Given the description of an element on the screen output the (x, y) to click on. 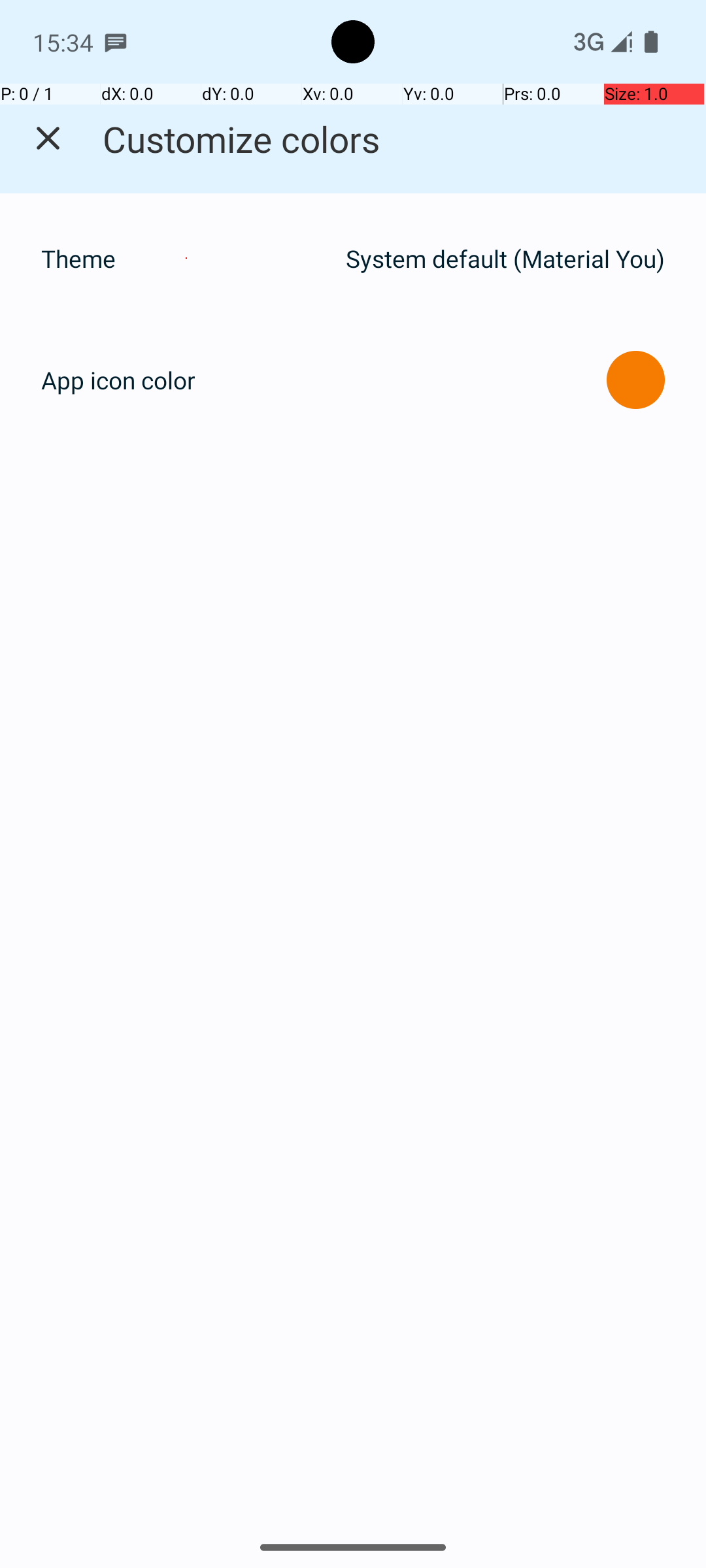
System default (Material You) Element type: android.widget.TextView (504, 258)
App icon color Element type: android.widget.TextView (118, 379)
